Given the description of an element on the screen output the (x, y) to click on. 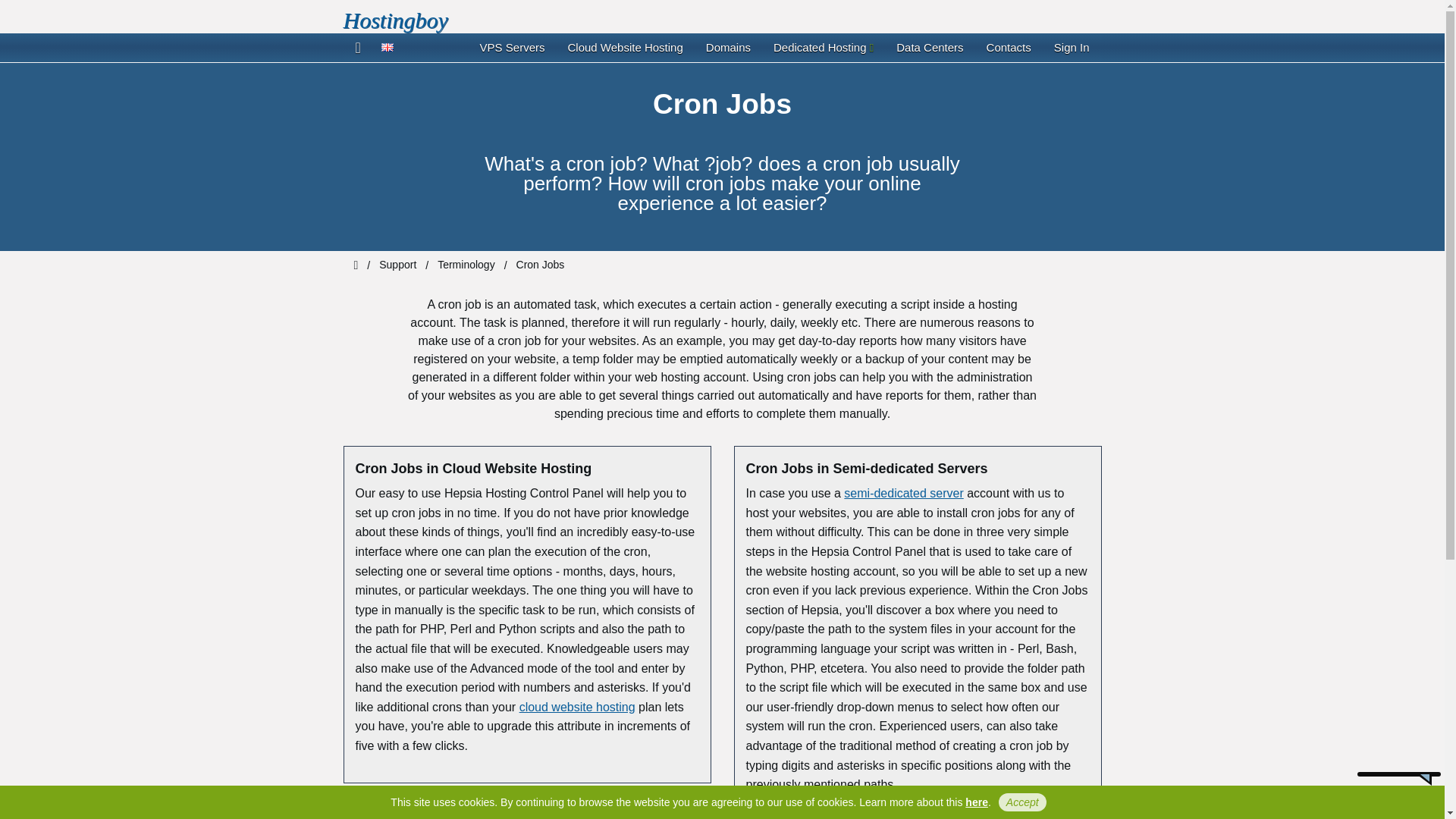
VPS Servers (512, 47)
Hostingboy (394, 19)
Cloud Website Hosting (625, 47)
Privacy Policy (976, 802)
cloud website hosting (576, 707)
Linux semi-dedicated service (903, 492)
